Given the description of an element on the screen output the (x, y) to click on. 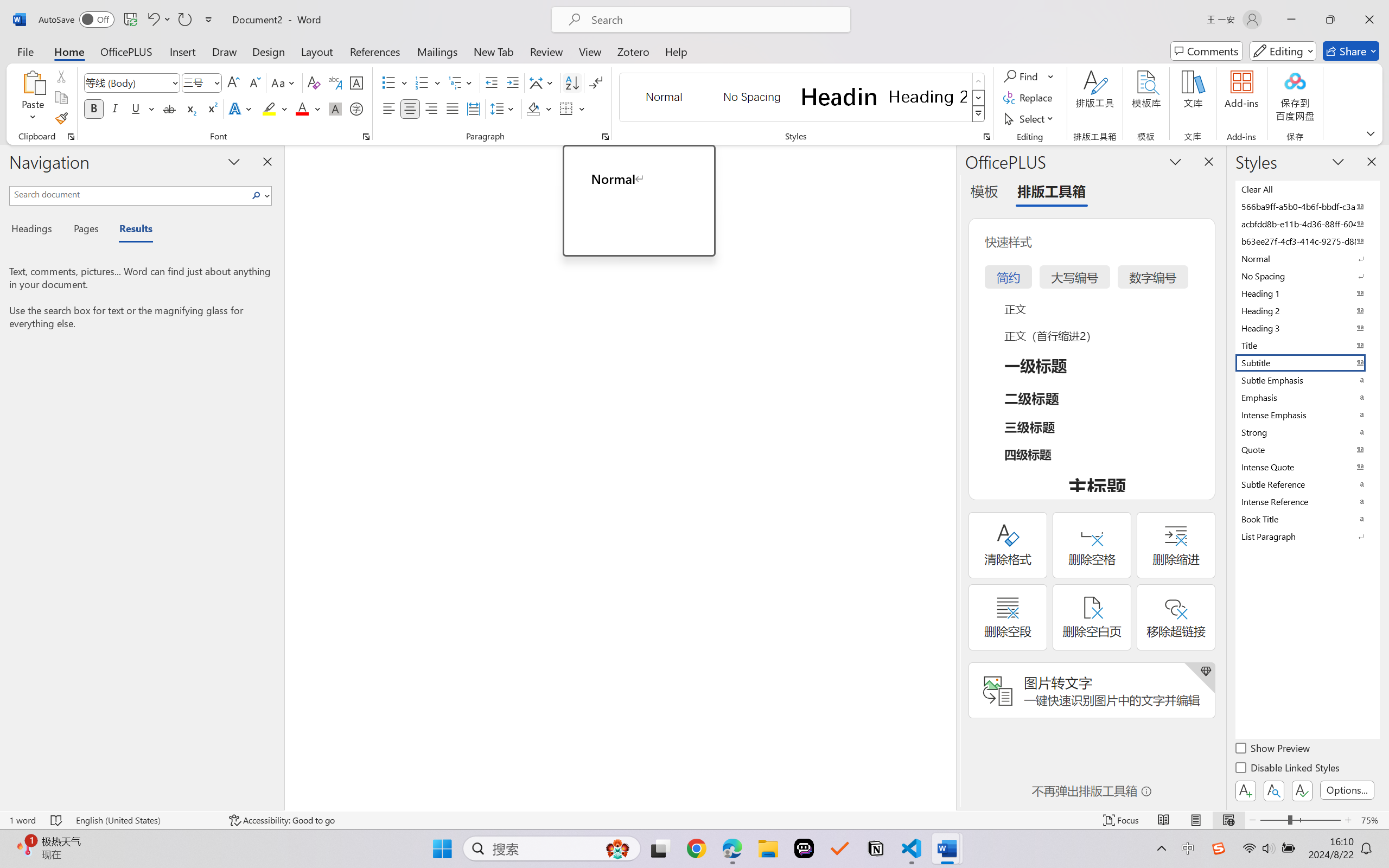
Bold (94, 108)
Styles (978, 113)
Print Layout (1196, 819)
Multilevel List (461, 82)
View (589, 51)
Heading 2 (927, 96)
Spelling and Grammar Check No Errors (56, 819)
Subscript (190, 108)
